Given the description of an element on the screen output the (x, y) to click on. 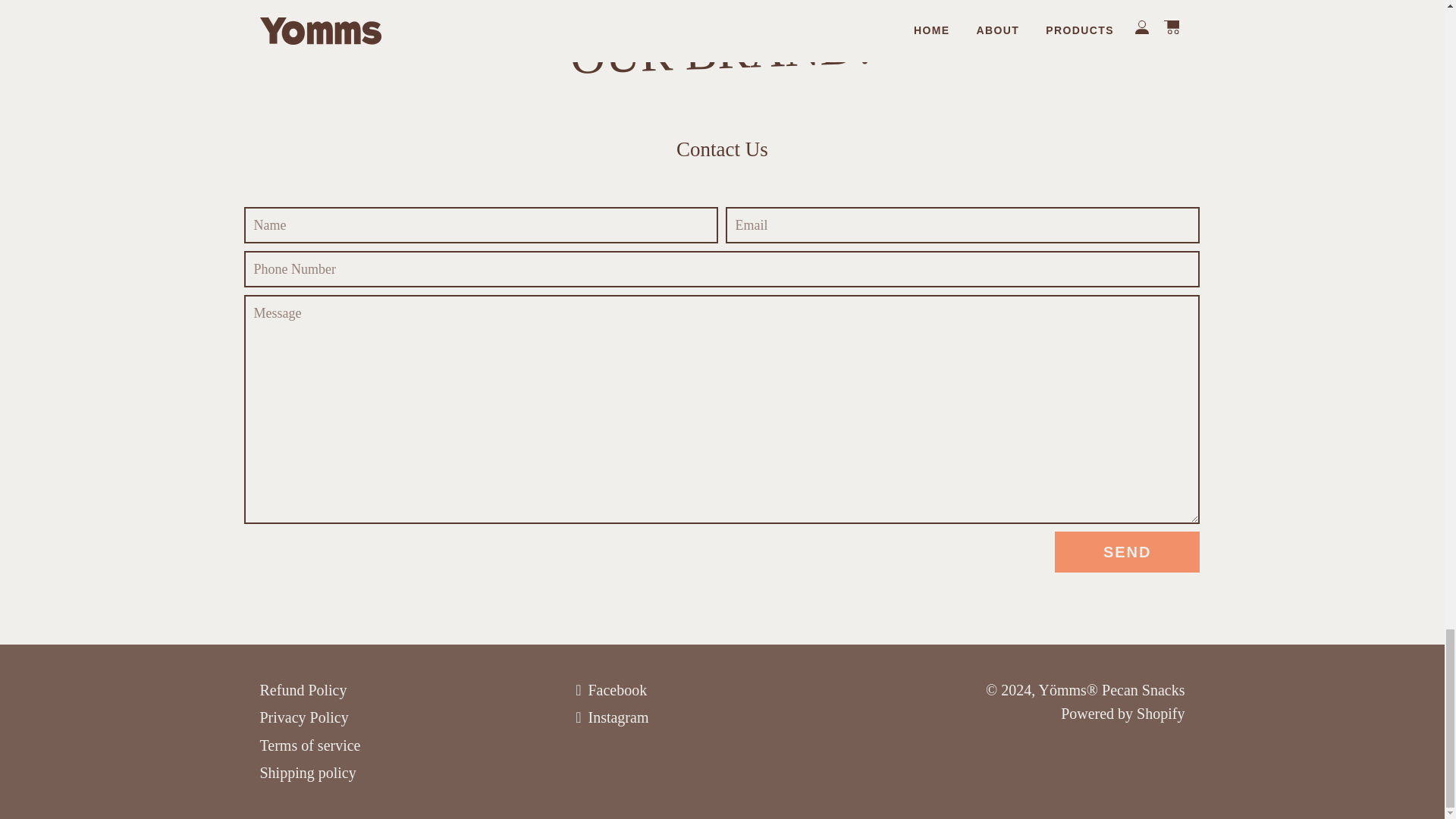
Shipping policy (307, 772)
Send (1126, 551)
Terms of service (309, 745)
Refund Policy (302, 689)
Privacy Policy (303, 717)
Send (1126, 551)
